Given the description of an element on the screen output the (x, y) to click on. 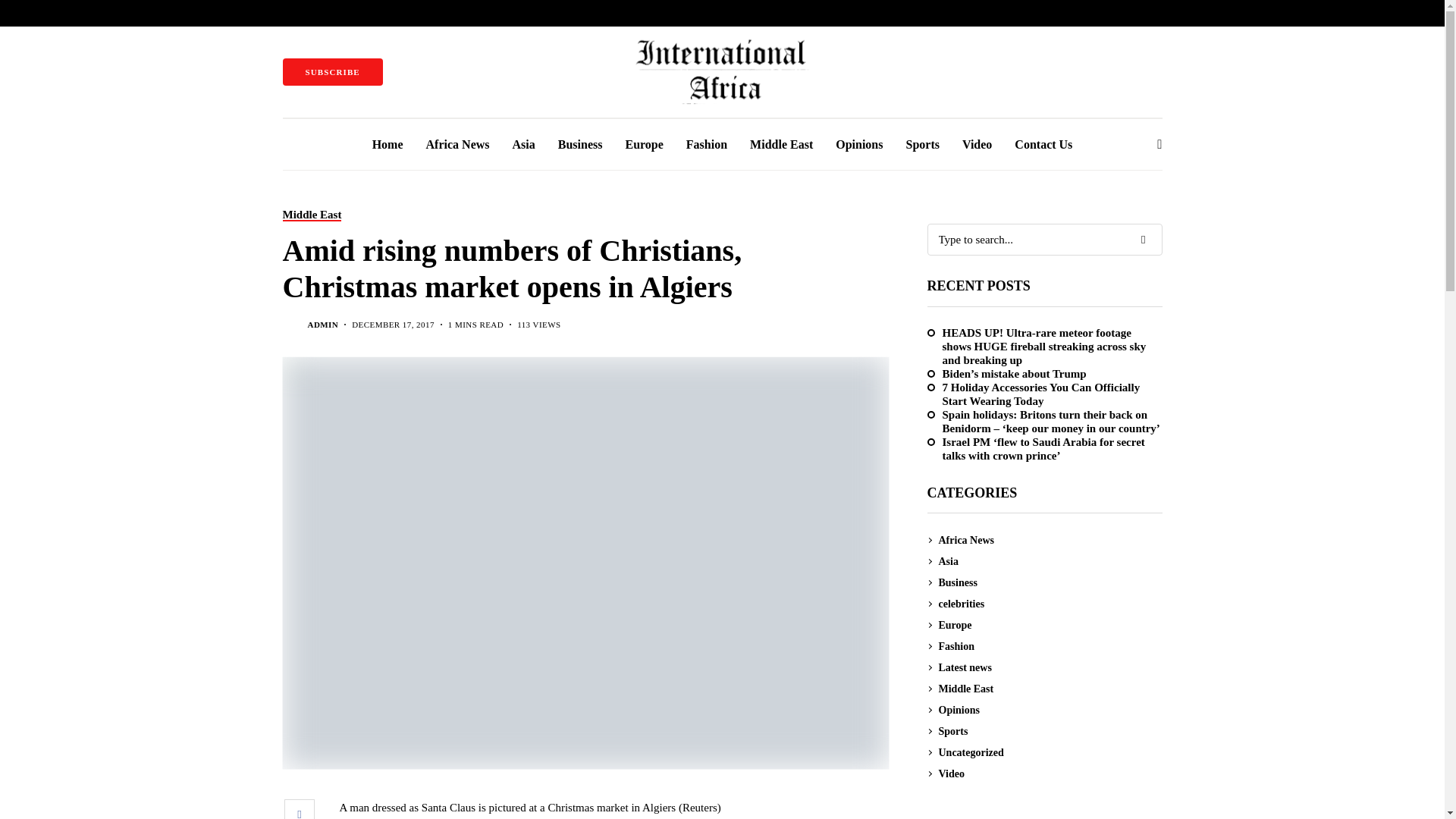
Europe (643, 143)
Opinions (858, 143)
Video (976, 143)
Asia (523, 143)
Contact Us (1042, 143)
Posts by admin (323, 325)
Middle East (780, 143)
Home (387, 143)
Africa News (457, 143)
Middle East (311, 214)
Business (579, 143)
Fashion (705, 143)
SUBSCRIBE (331, 71)
ADMIN (323, 325)
Sports (922, 143)
